Given the description of an element on the screen output the (x, y) to click on. 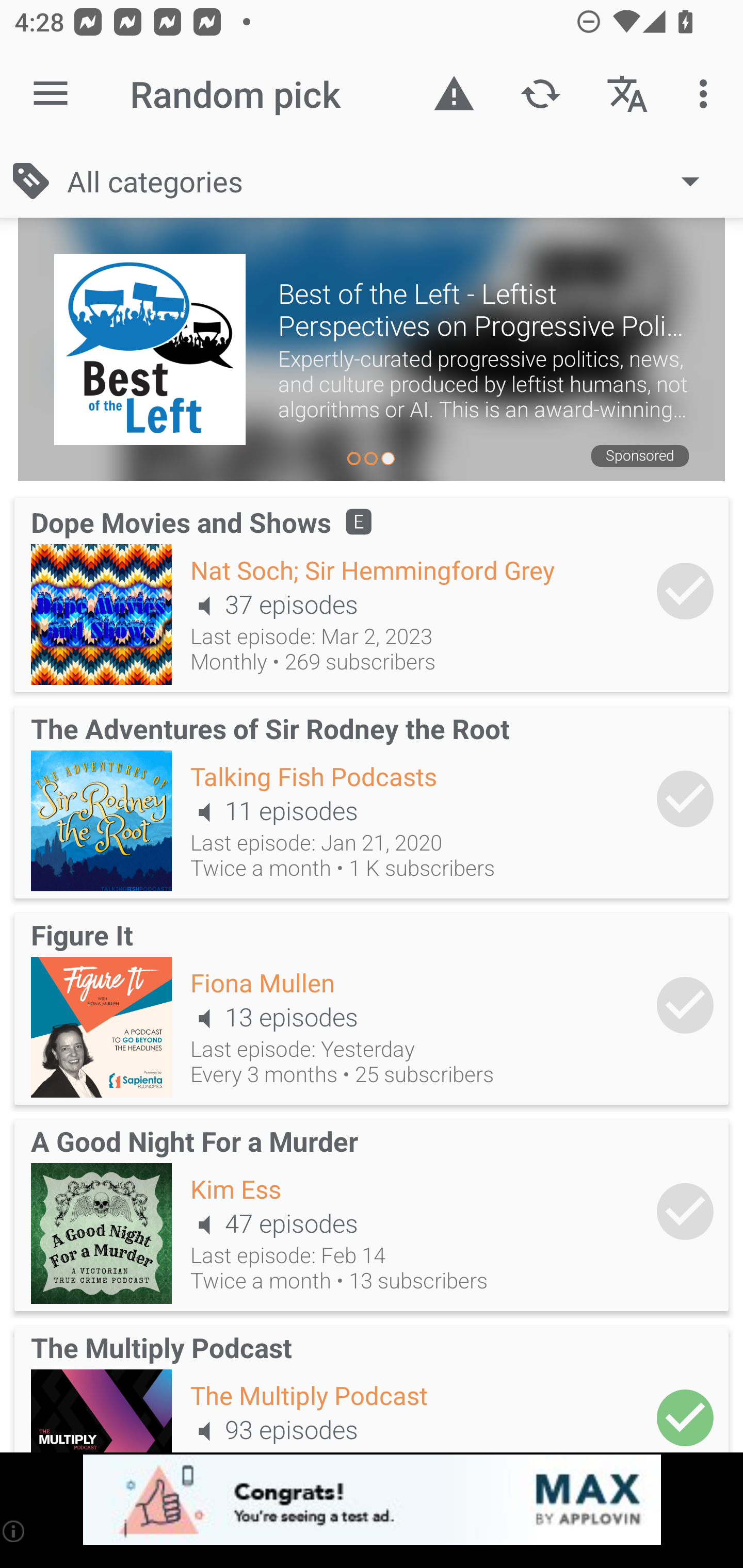
Open navigation sidebar (50, 93)
Report inappropriate content (453, 93)
Update top podcasts list (540, 93)
Podcast languages (626, 93)
More options (706, 93)
All categories (393, 180)
Add (684, 591)
Add (684, 798)
Add (684, 1004)
Add (684, 1211)
Add (684, 1413)
app-monetization (371, 1500)
(i) (14, 1531)
